Given the description of an element on the screen output the (x, y) to click on. 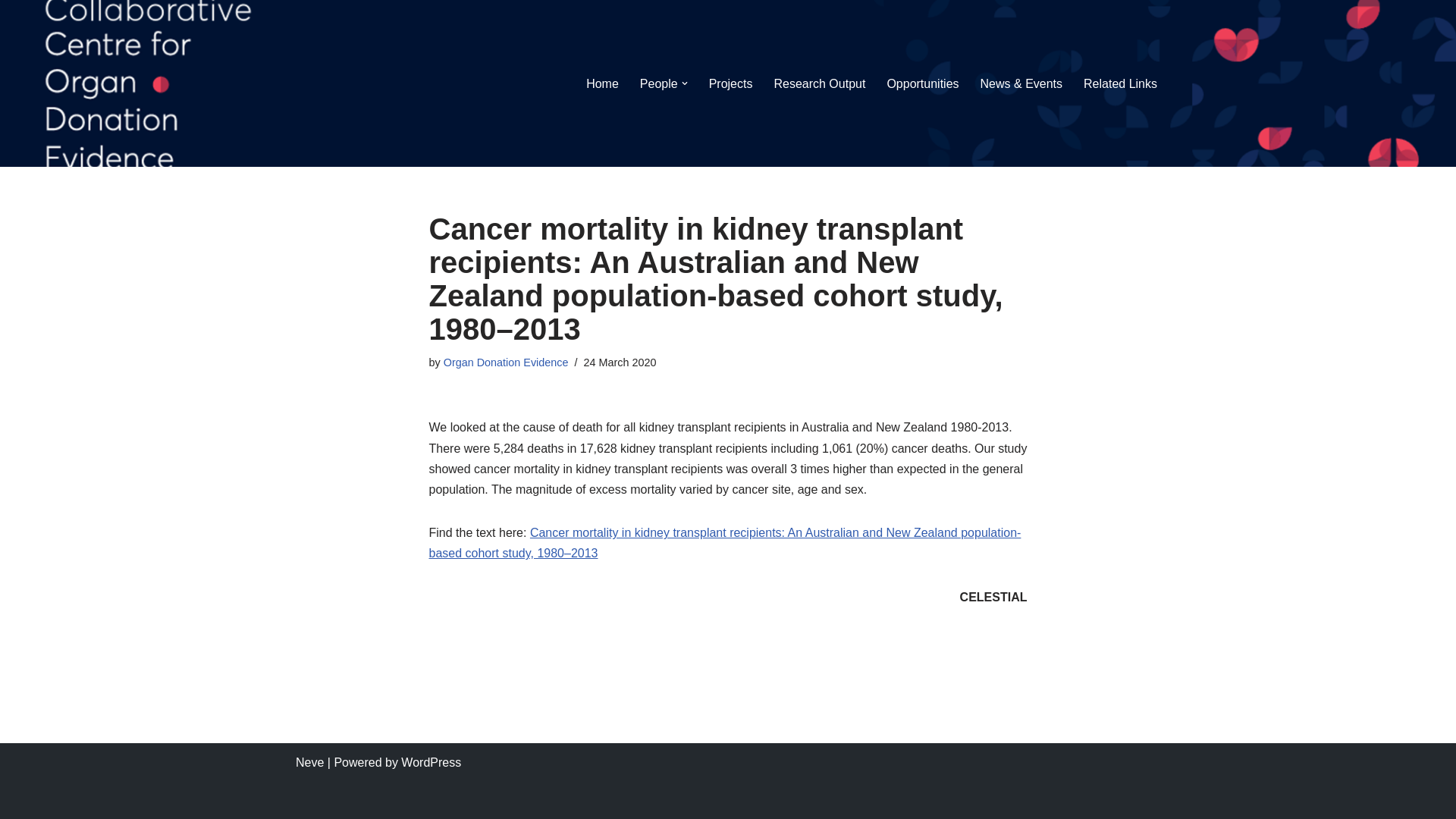
Skip to content Element type: text (11, 31)
People Element type: text (658, 83)
Neve Element type: text (309, 762)
Projects Element type: text (731, 83)
Related Links Element type: text (1120, 83)
Organ Donation Evidence Element type: text (505, 362)
Home Element type: text (602, 83)
Opportunities Element type: text (922, 83)
Research Output Element type: text (819, 83)
News & Events Element type: text (1021, 83)
WordPress Element type: text (431, 762)
